Given the description of an element on the screen output the (x, y) to click on. 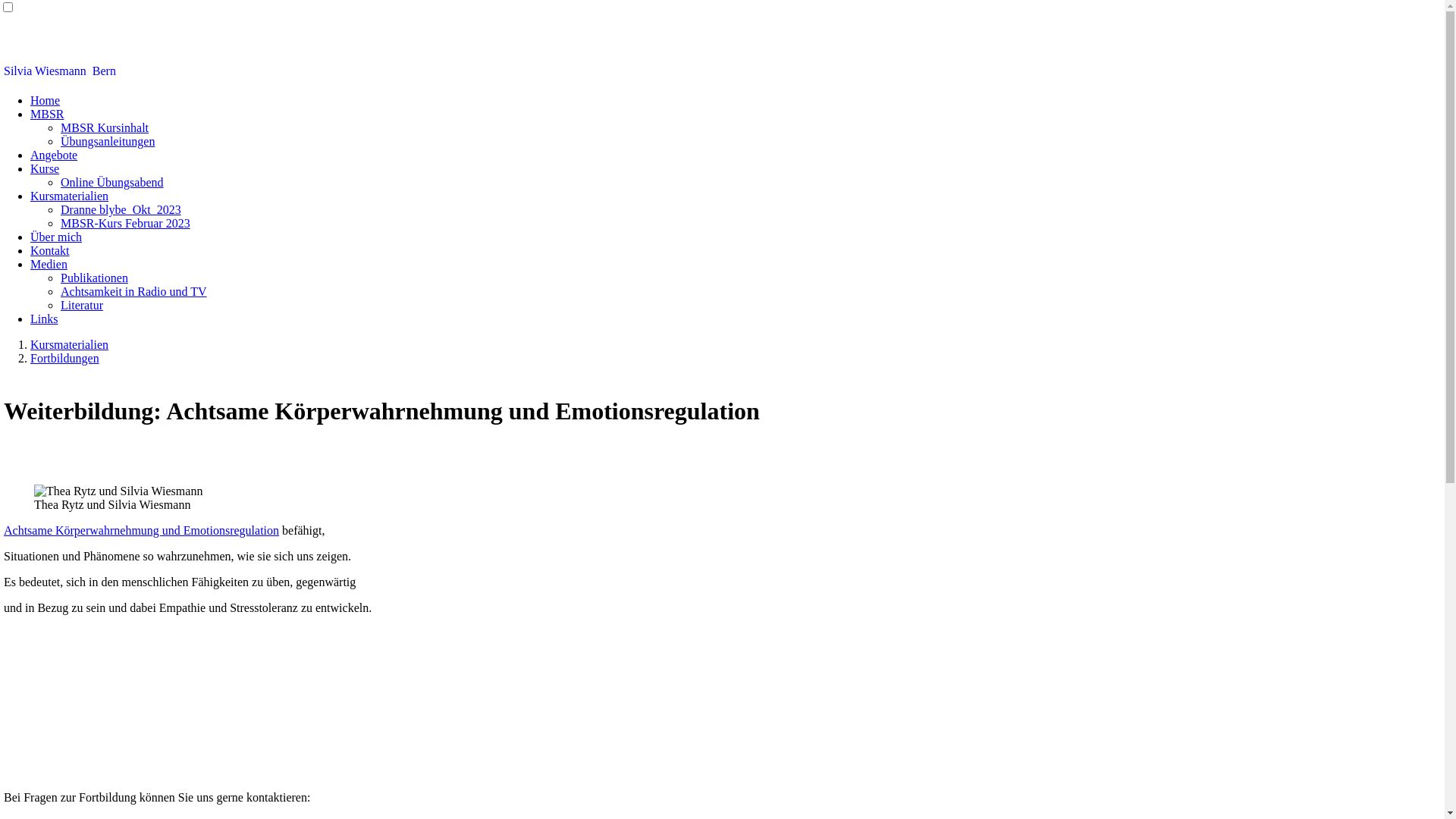
Kurse Element type: text (44, 168)
MBSR Element type: text (46, 113)
Home Element type: text (44, 100)
Medien Element type: text (48, 263)
Literatur Element type: text (81, 304)
MBSR-Kurs Februar 2023 Element type: text (125, 222)
Publikationen Element type: text (94, 277)
Links Element type: text (43, 318)
Kursmaterialien Element type: text (69, 344)
Dranne blybe_Okt_2023 Element type: text (120, 209)
MBSR Kursinhalt Element type: text (104, 127)
Achtsamkeit in Radio und TV Element type: text (133, 291)
Silvia Wiesmann  Bern Element type: text (59, 70)
Angebote Element type: text (53, 154)
Fortbildungen Element type: text (64, 357)
Kursmaterialien Element type: text (69, 195)
Kontakt Element type: text (49, 250)
